Given the description of an element on the screen output the (x, y) to click on. 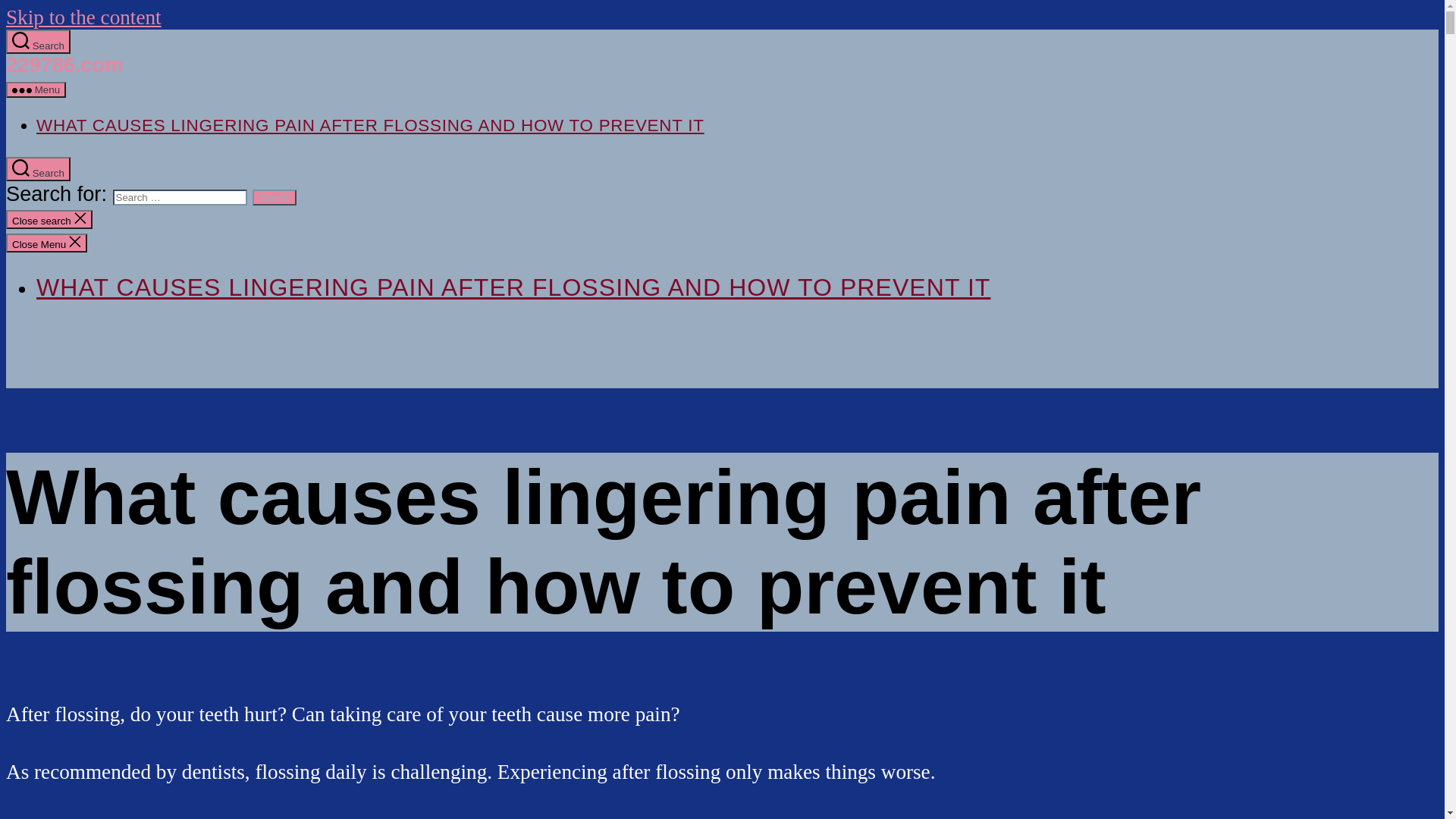
Skip to the content Element type: text (83, 17)
Close Menu Element type: text (46, 242)
Search Element type: text (38, 41)
229786.com Element type: text (64, 64)
Search Element type: text (38, 168)
Search Element type: text (274, 197)
Close search Element type: text (49, 219)
Menu Element type: text (35, 89)
